Given the description of an element on the screen output the (x, y) to click on. 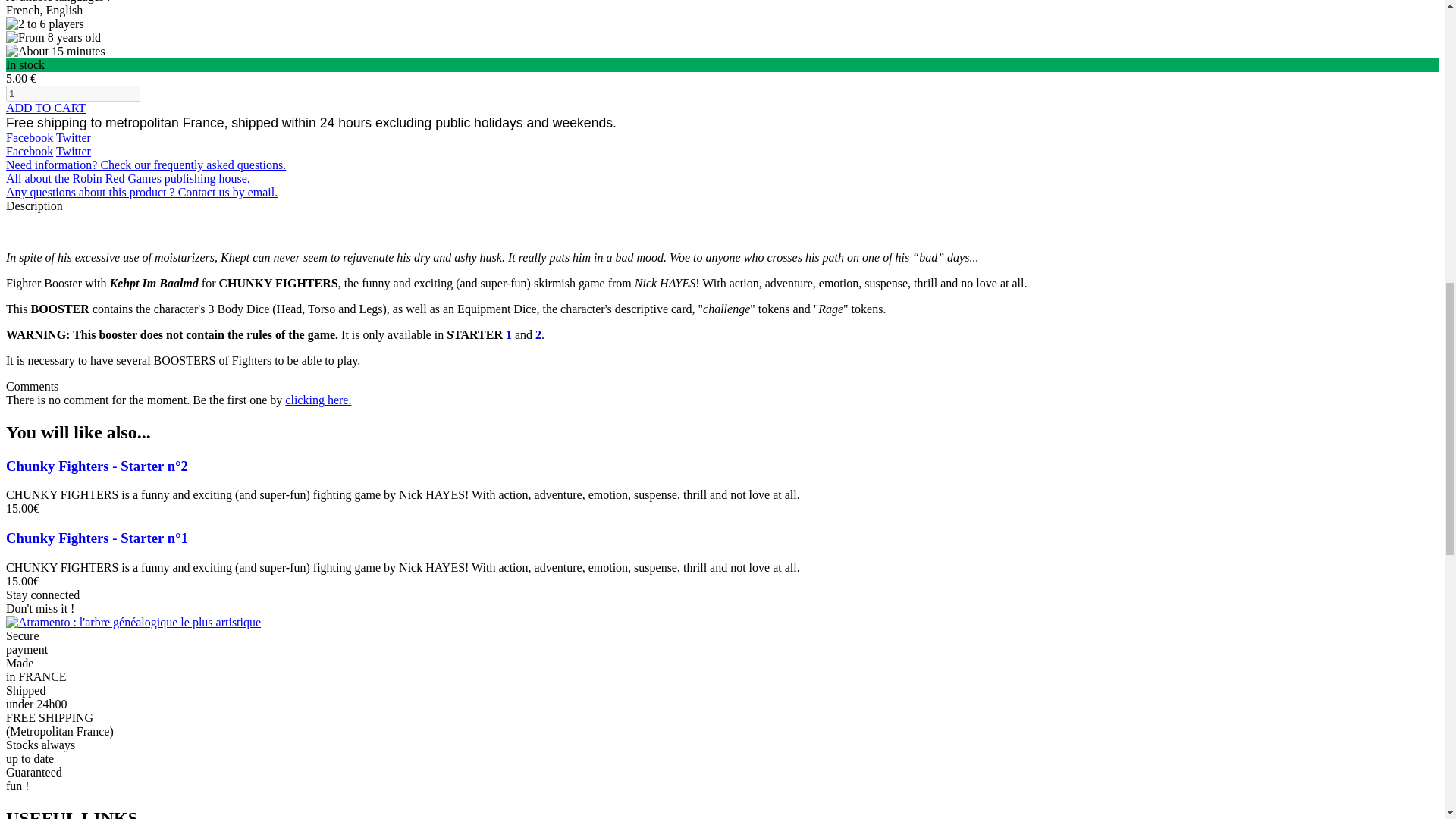
1 (72, 93)
